Given the description of an element on the screen output the (x, y) to click on. 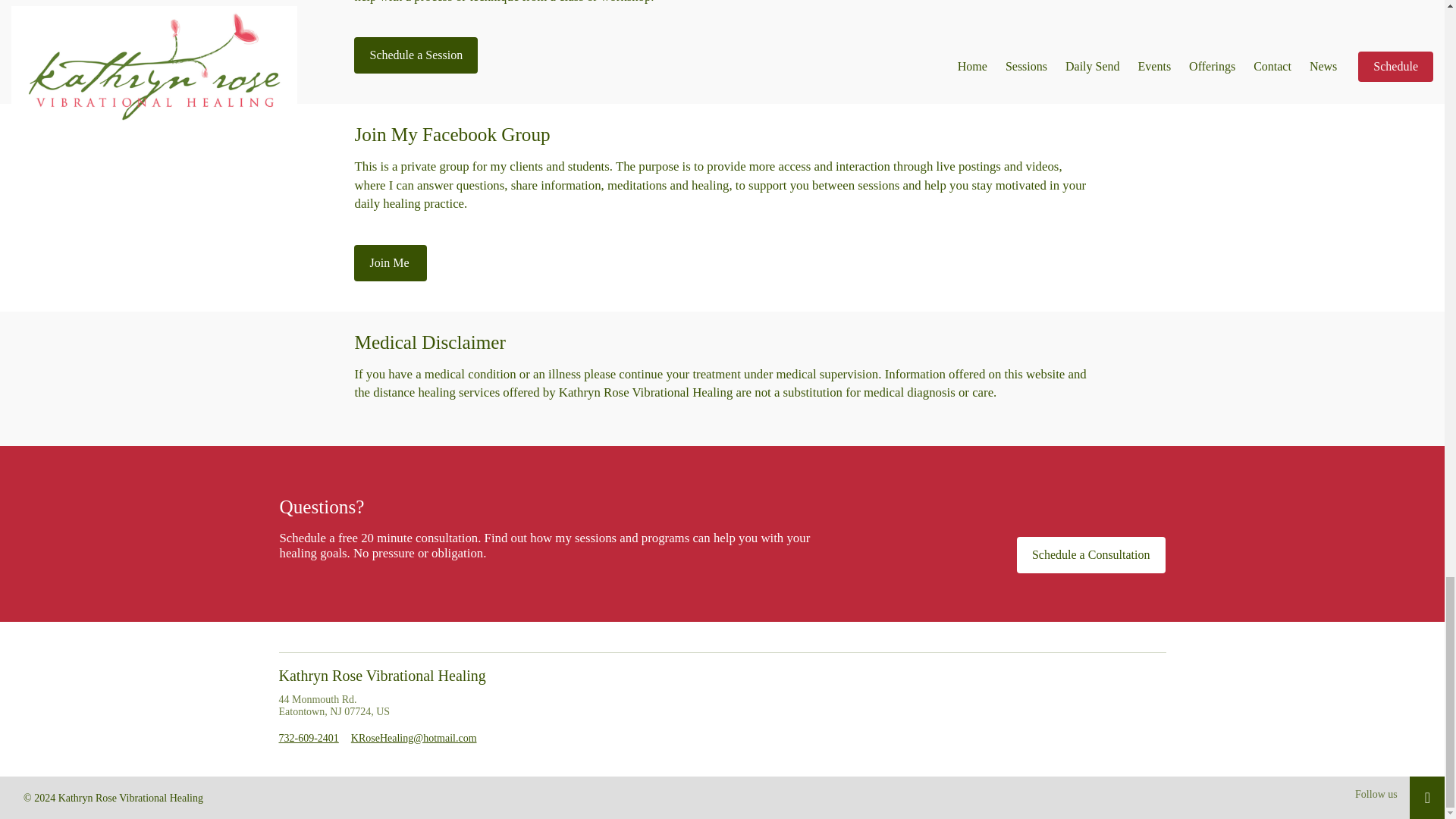
Schedule a Session (415, 54)
Schedule a Consultation (1091, 555)
Join Me  (389, 262)
732-609-2401 (309, 737)
